Given the description of an element on the screen output the (x, y) to click on. 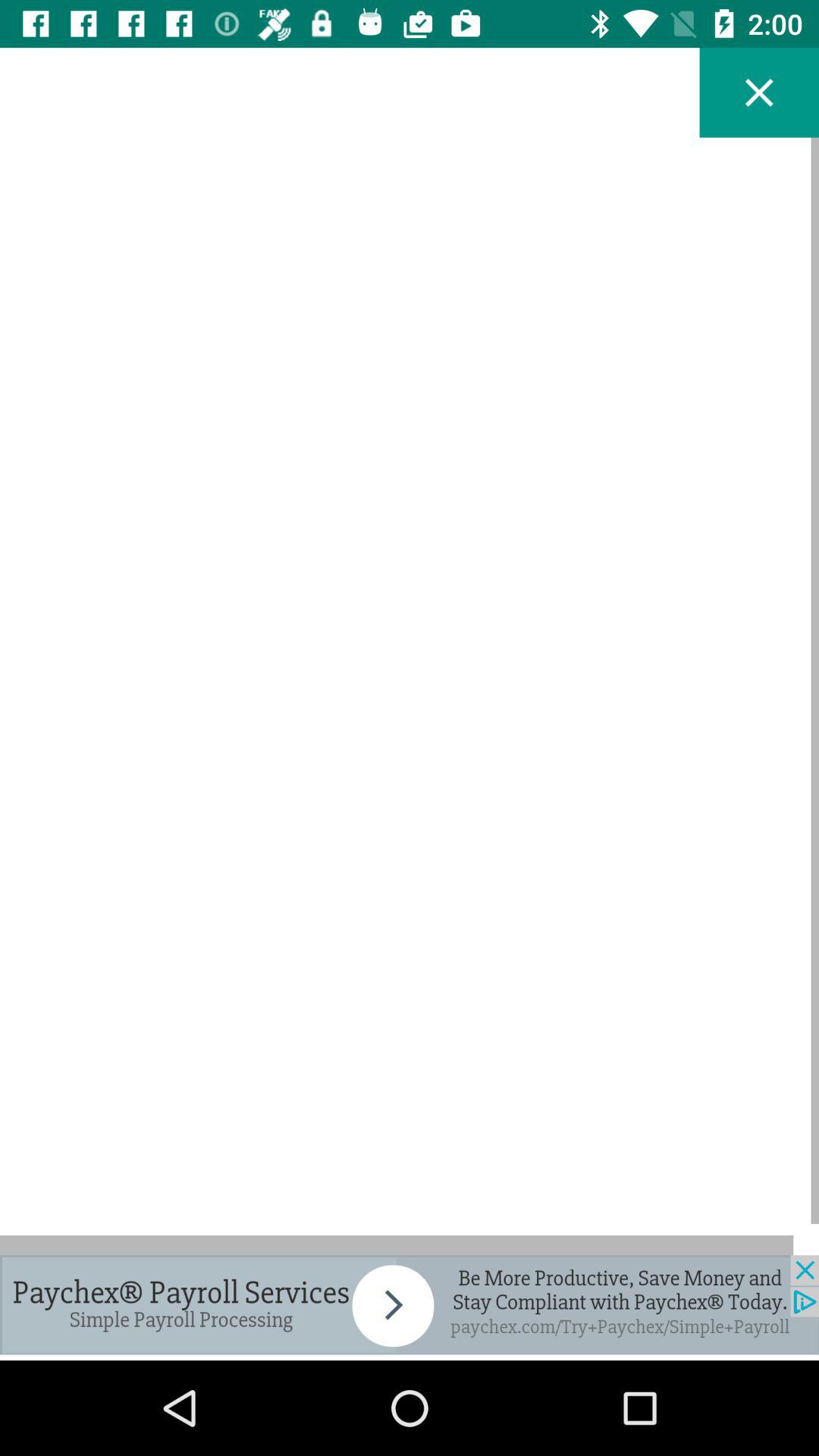
go back (759, 92)
